Given the description of an element on the screen output the (x, y) to click on. 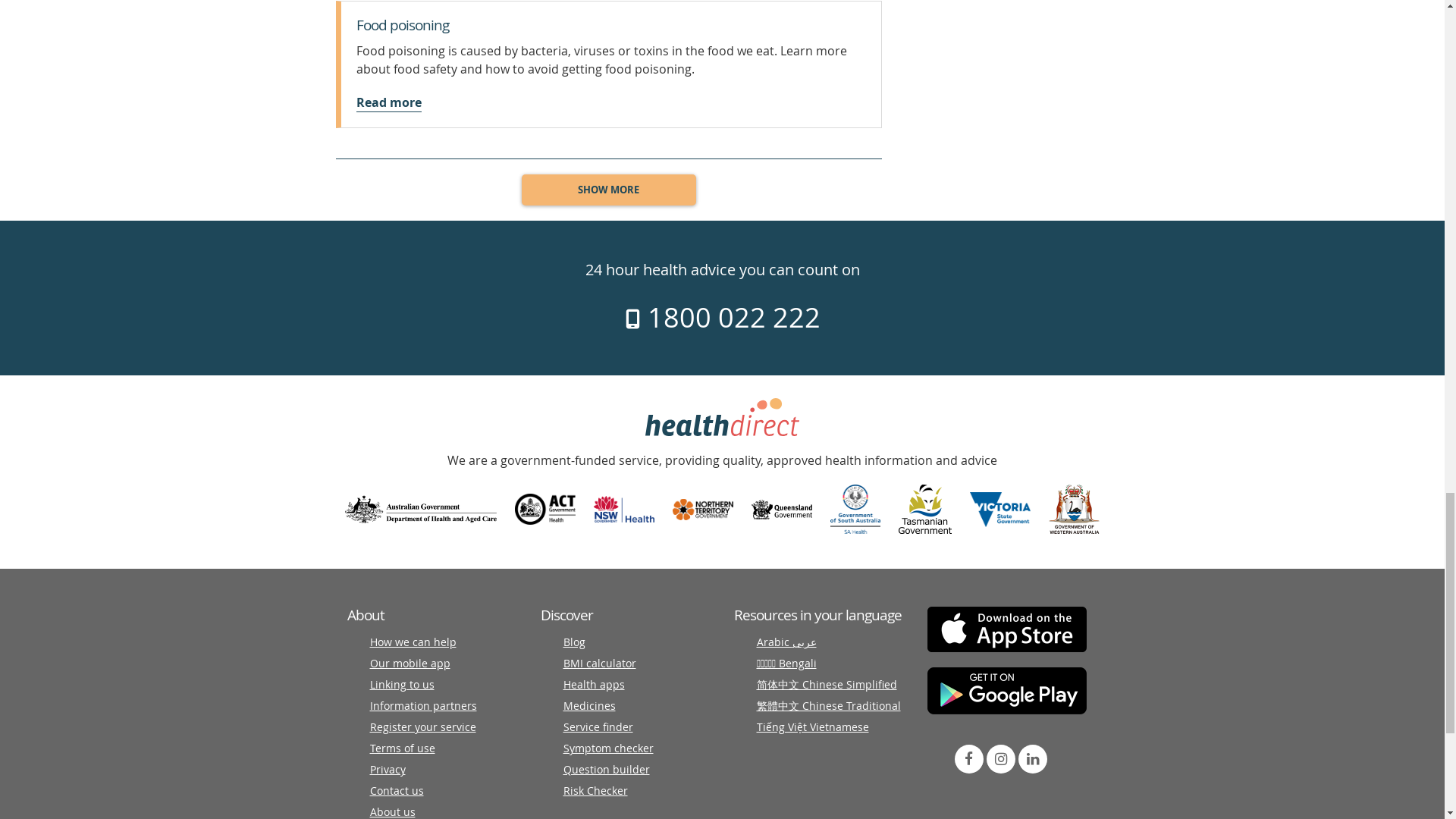
Show more search results (608, 189)
